Given the description of an element on the screen output the (x, y) to click on. 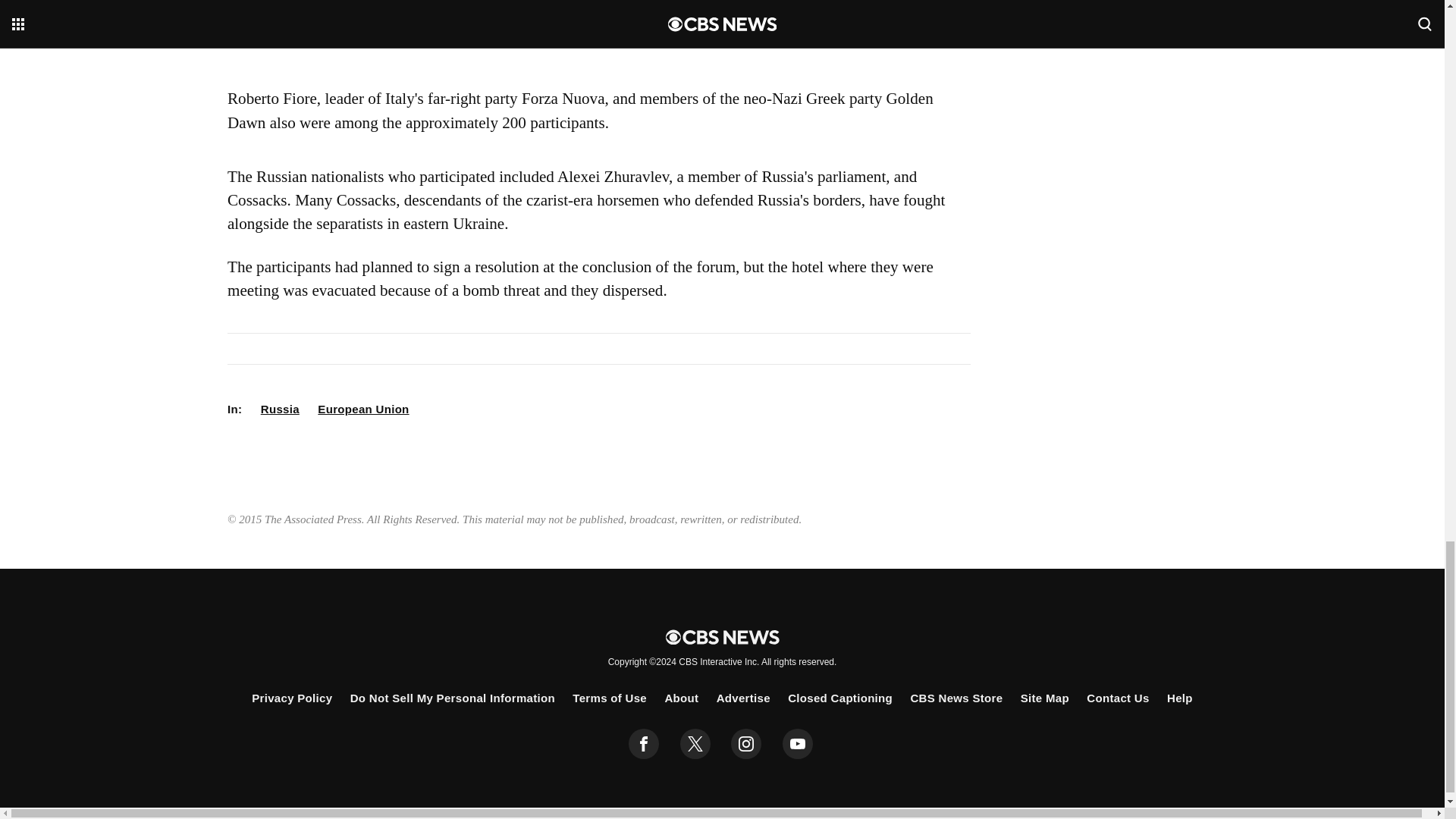
youtube (797, 743)
instagram (745, 743)
twitter (694, 743)
facebook (643, 743)
Video: U.S., European Union broaden sanctions against Russia (599, 36)
